Given the description of an element on the screen output the (x, y) to click on. 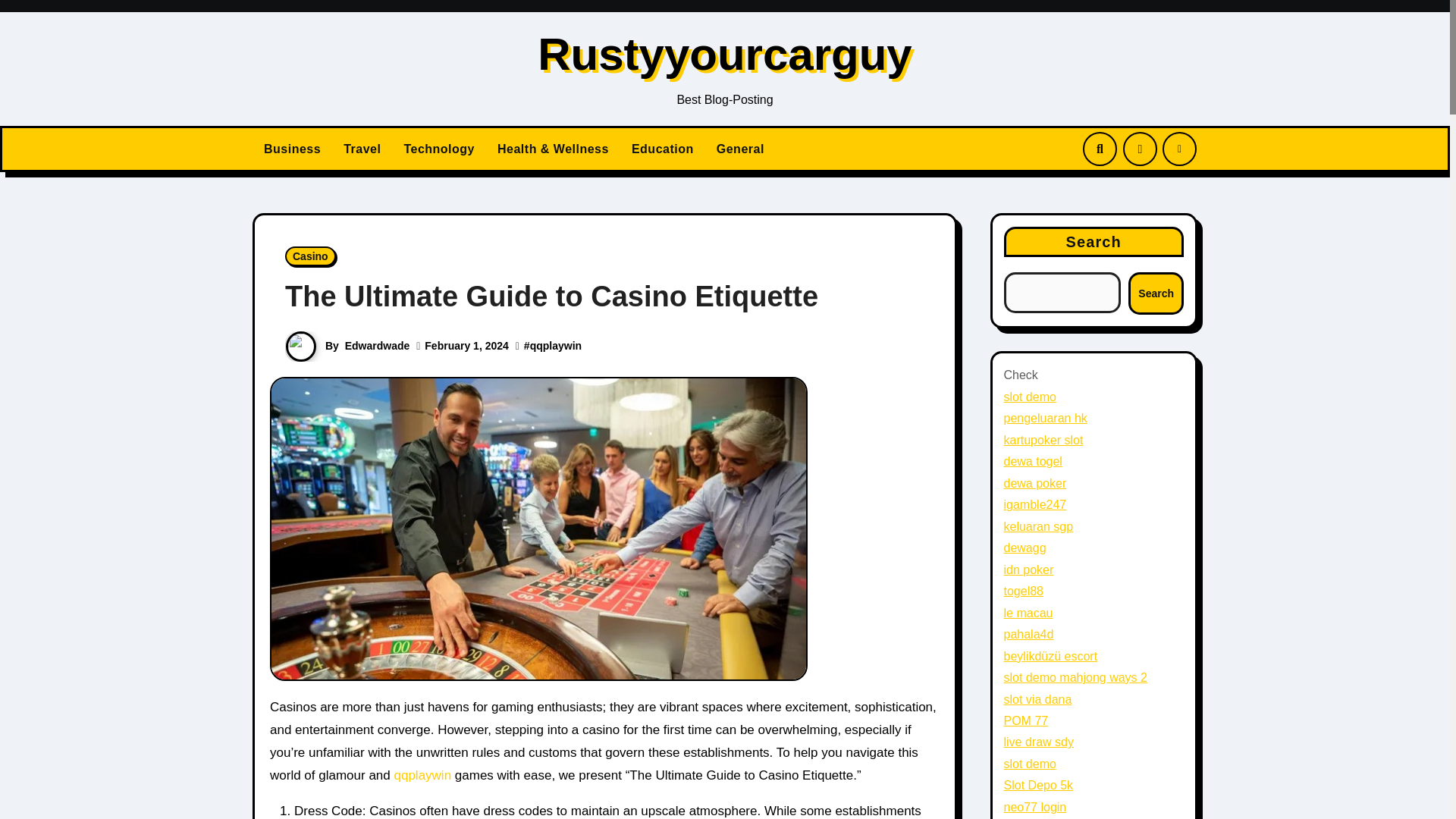
General (740, 149)
Business (291, 149)
February 1, 2024 (466, 345)
Edwardwade (377, 345)
qqplaywin (554, 345)
General (740, 149)
Casino (310, 256)
qqplaywin (422, 775)
Technology (438, 149)
Business (291, 149)
